Given the description of an element on the screen output the (x, y) to click on. 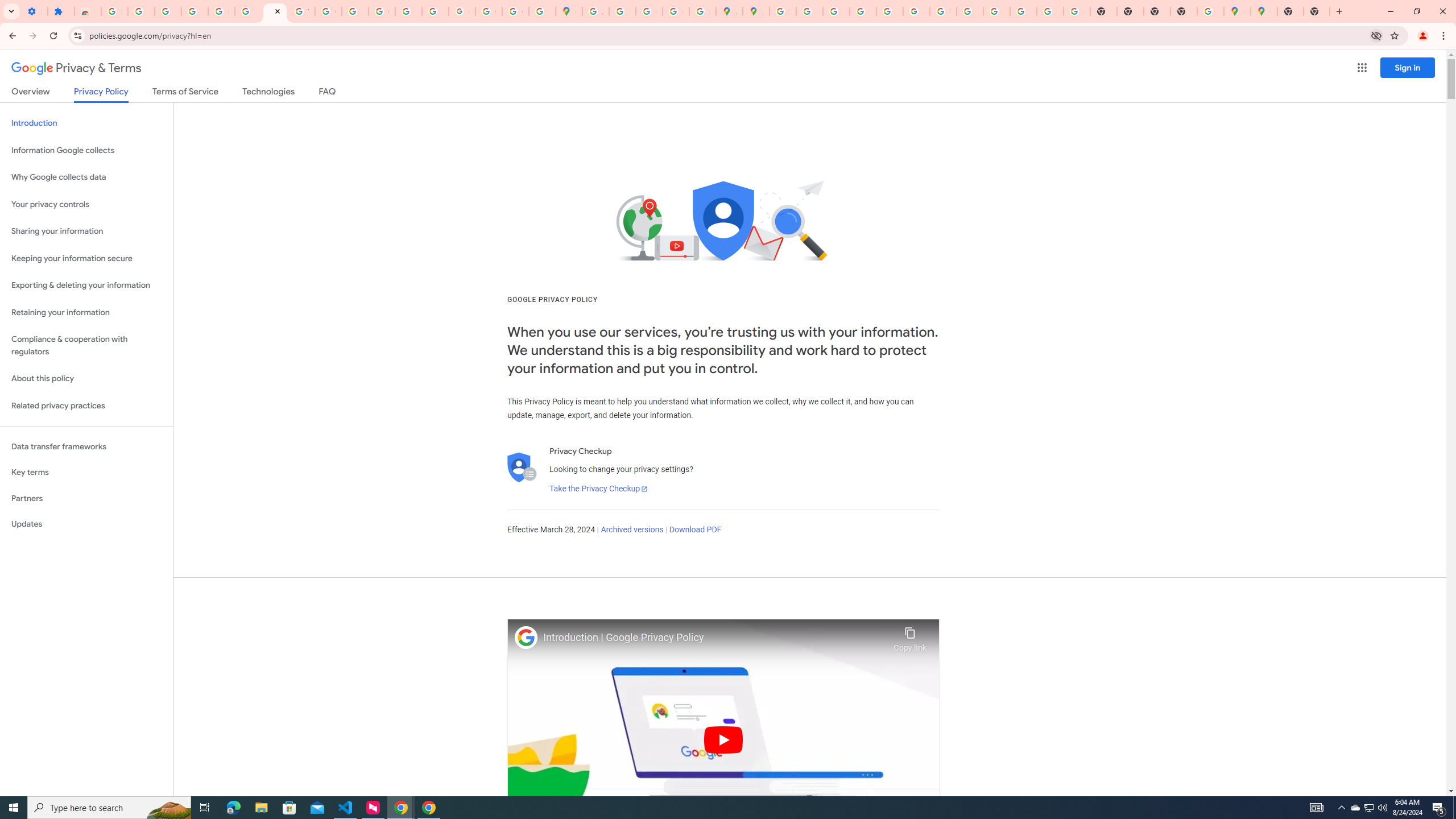
Google Maps (569, 11)
YouTube (301, 11)
Introduction | Google Privacy Policy (715, 637)
Sign in - Google Accounts (114, 11)
